Given the description of an element on the screen output the (x, y) to click on. 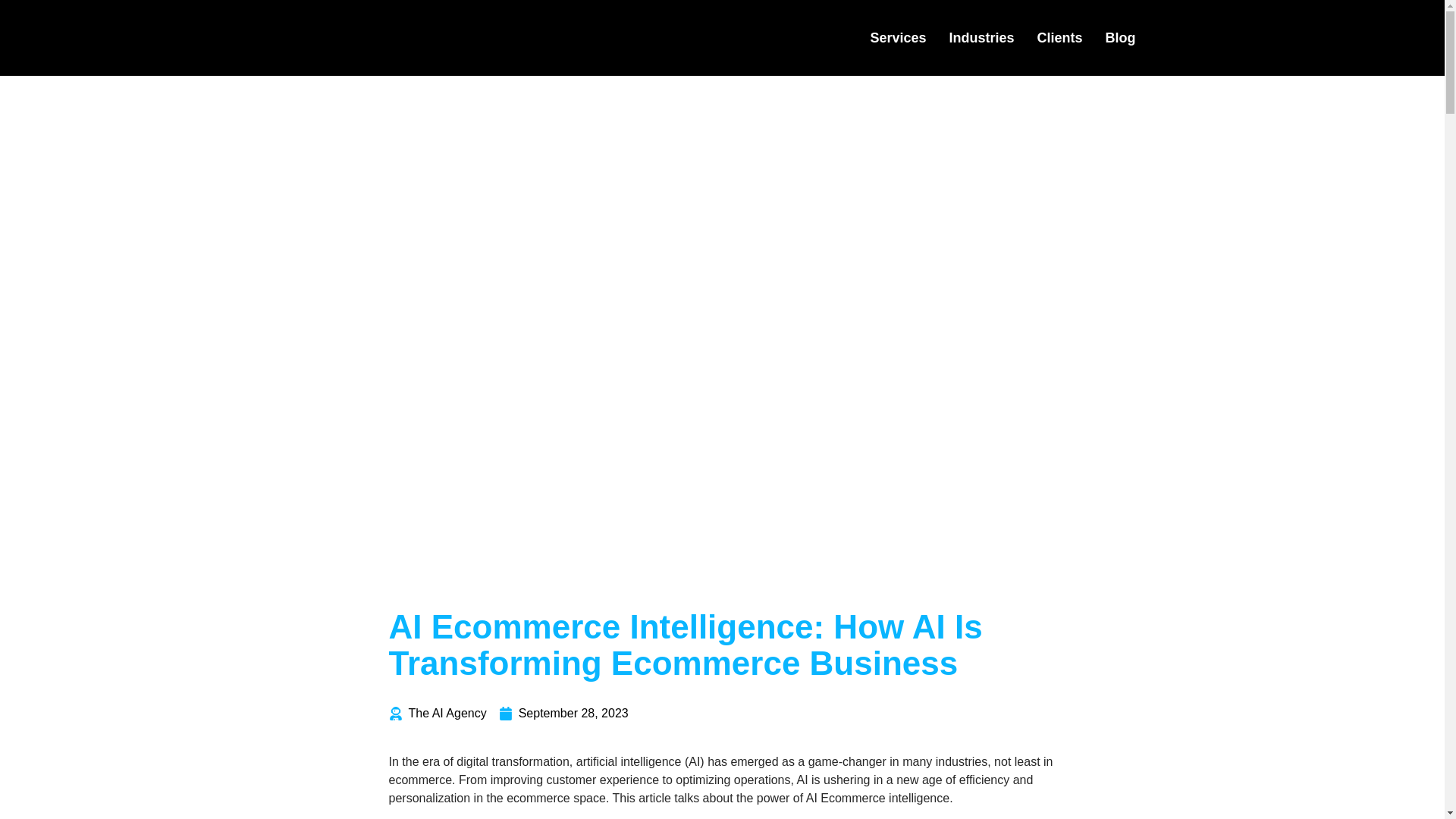
Industries (981, 37)
Clients (1059, 37)
Services (898, 37)
